Given the description of an element on the screen output the (x, y) to click on. 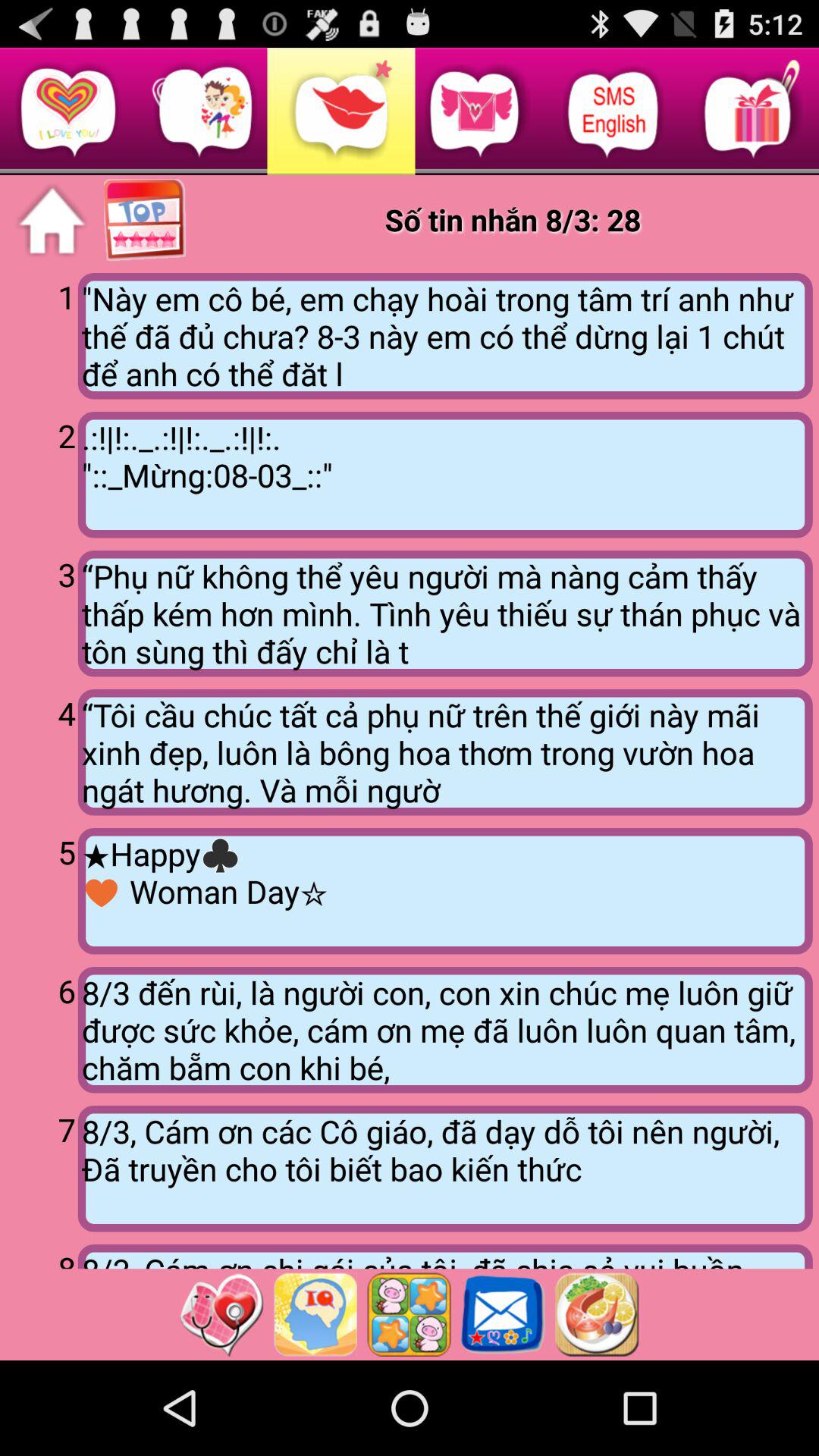
go to home (51, 220)
